Given the description of an element on the screen output the (x, y) to click on. 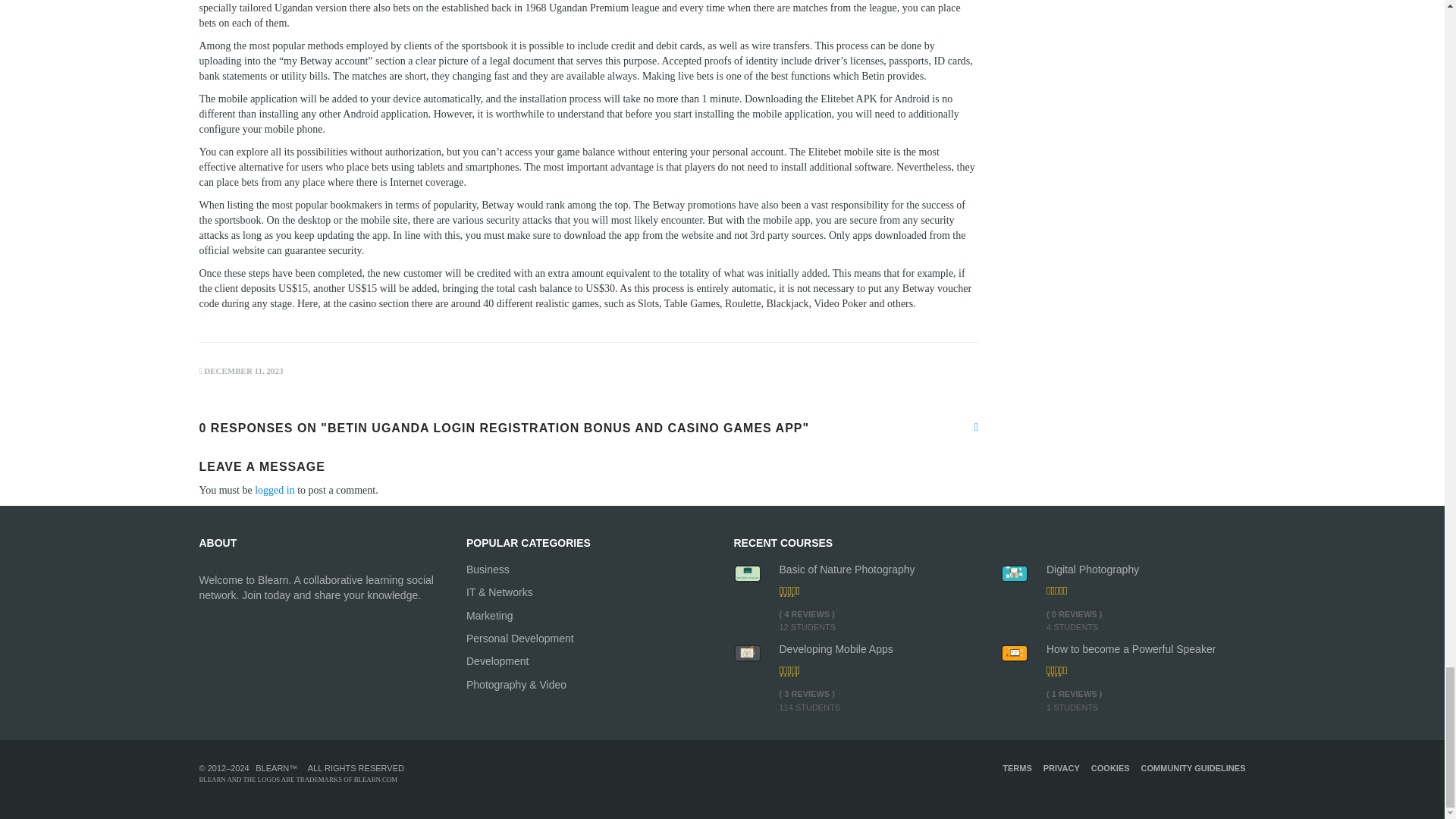
Digital Photography (1146, 569)
Business (588, 569)
Developing Mobile Apps (878, 648)
COMMUNITY GUIDELINES (1193, 768)
Basic of Nature Photography (878, 569)
Marketing (588, 615)
PRIVACY (1061, 768)
BLEARN (272, 768)
TERMS (1017, 768)
logged in (274, 490)
Personal Development (588, 638)
Development (588, 660)
COOKIES (1109, 768)
How to become a Powerful Speaker (1146, 648)
